Given the description of an element on the screen output the (x, y) to click on. 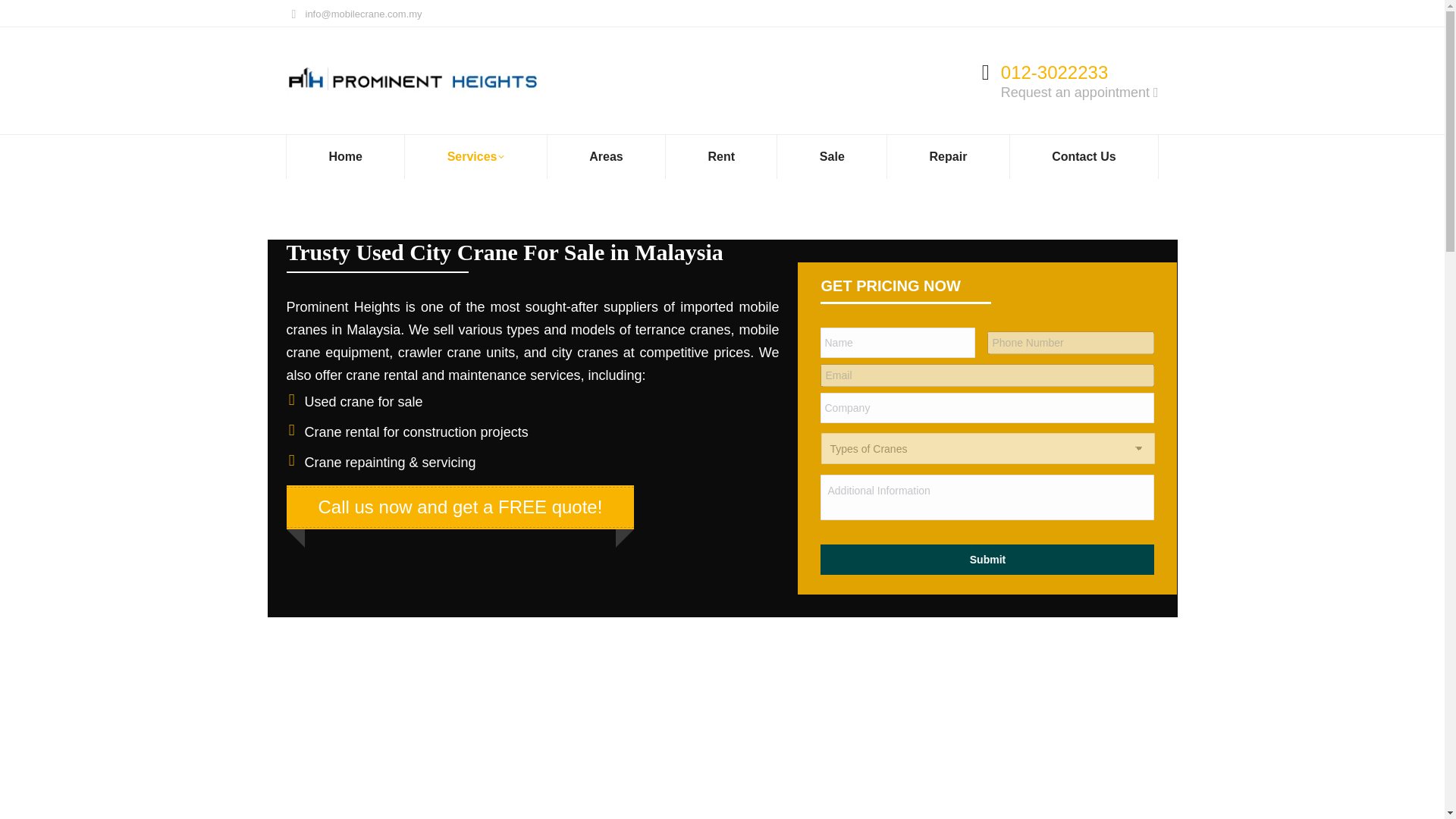
012-3022233 (1054, 72)
Request an appointment (1079, 92)
Areas (606, 157)
Contact Us (1083, 157)
Submit (987, 559)
Services (475, 157)
Repair (948, 157)
Rent (721, 157)
Home (345, 157)
Sale (831, 157)
